Given the description of an element on the screen output the (x, y) to click on. 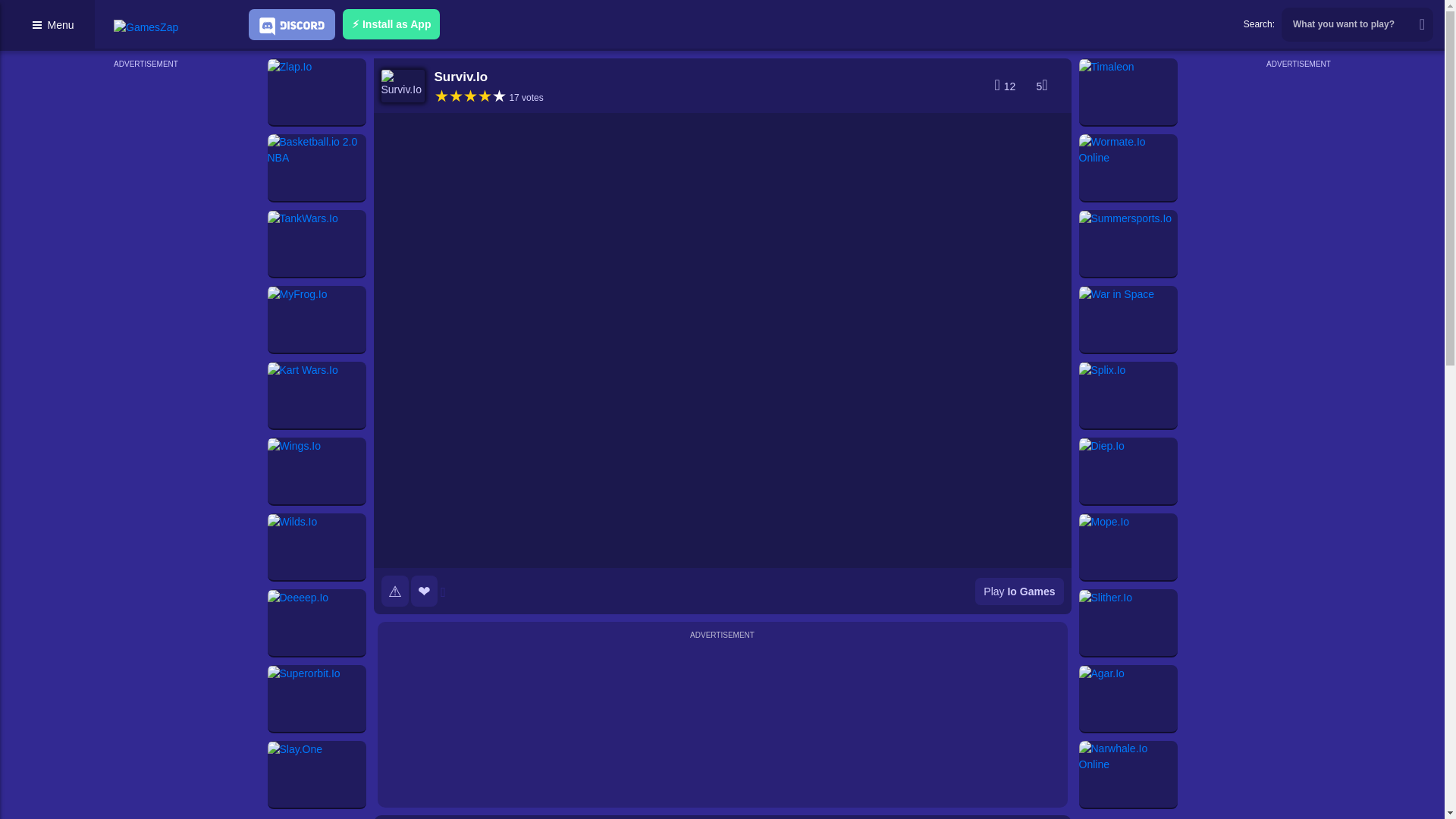
Install as App (390, 24)
GamesZap (145, 26)
Join our Discord (291, 24)
